Given the description of an element on the screen output the (x, y) to click on. 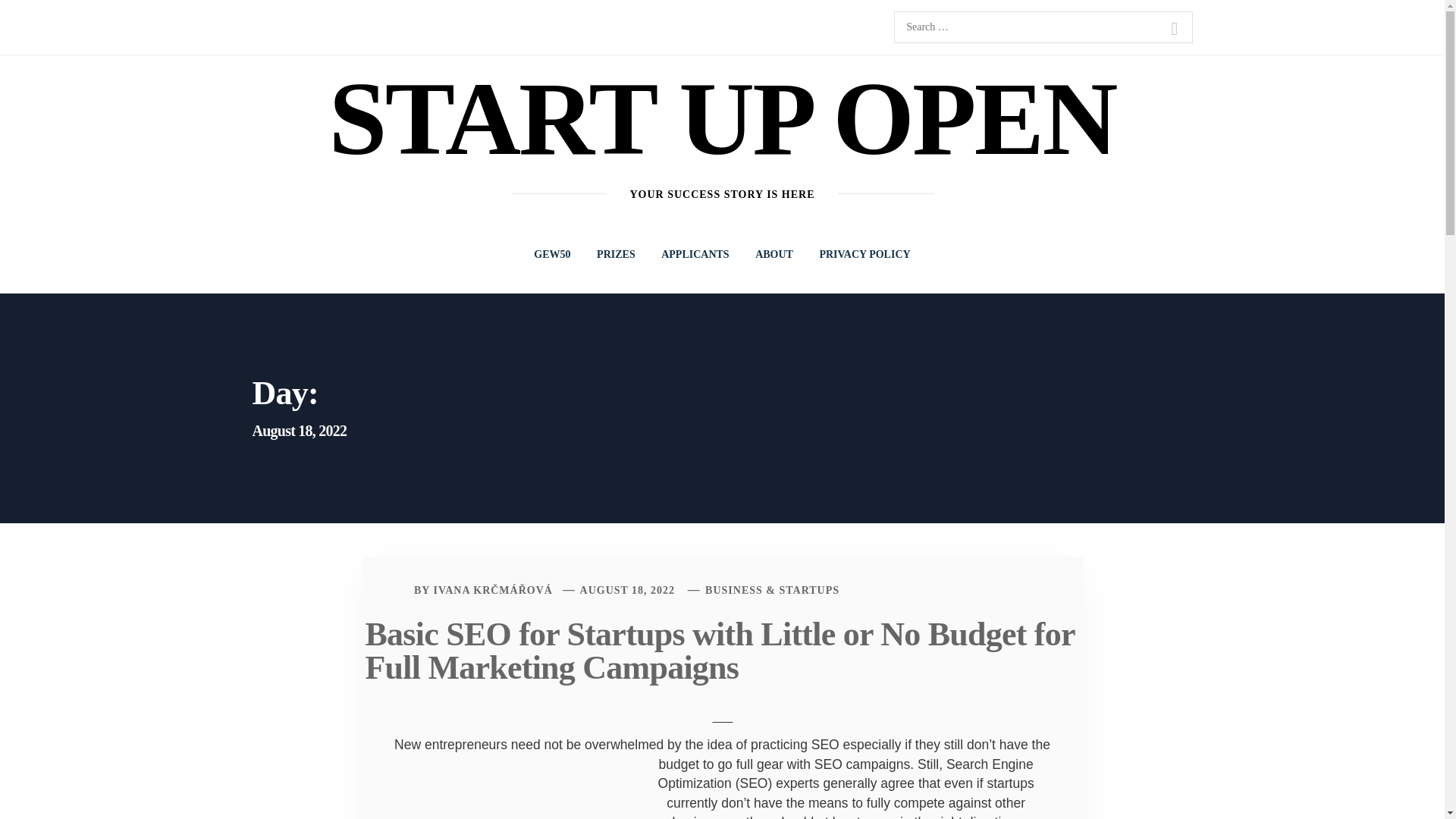
Search (1174, 28)
START UP OPEN (722, 118)
AUGUST 18, 2022 (627, 590)
PRIVACY POLICY (864, 254)
PRIZES (615, 254)
GEW50 (551, 254)
Search (1174, 28)
Search (1174, 28)
startups (1010, 783)
ABOUT (774, 254)
APPLICANTS (694, 254)
